Given the description of an element on the screen output the (x, y) to click on. 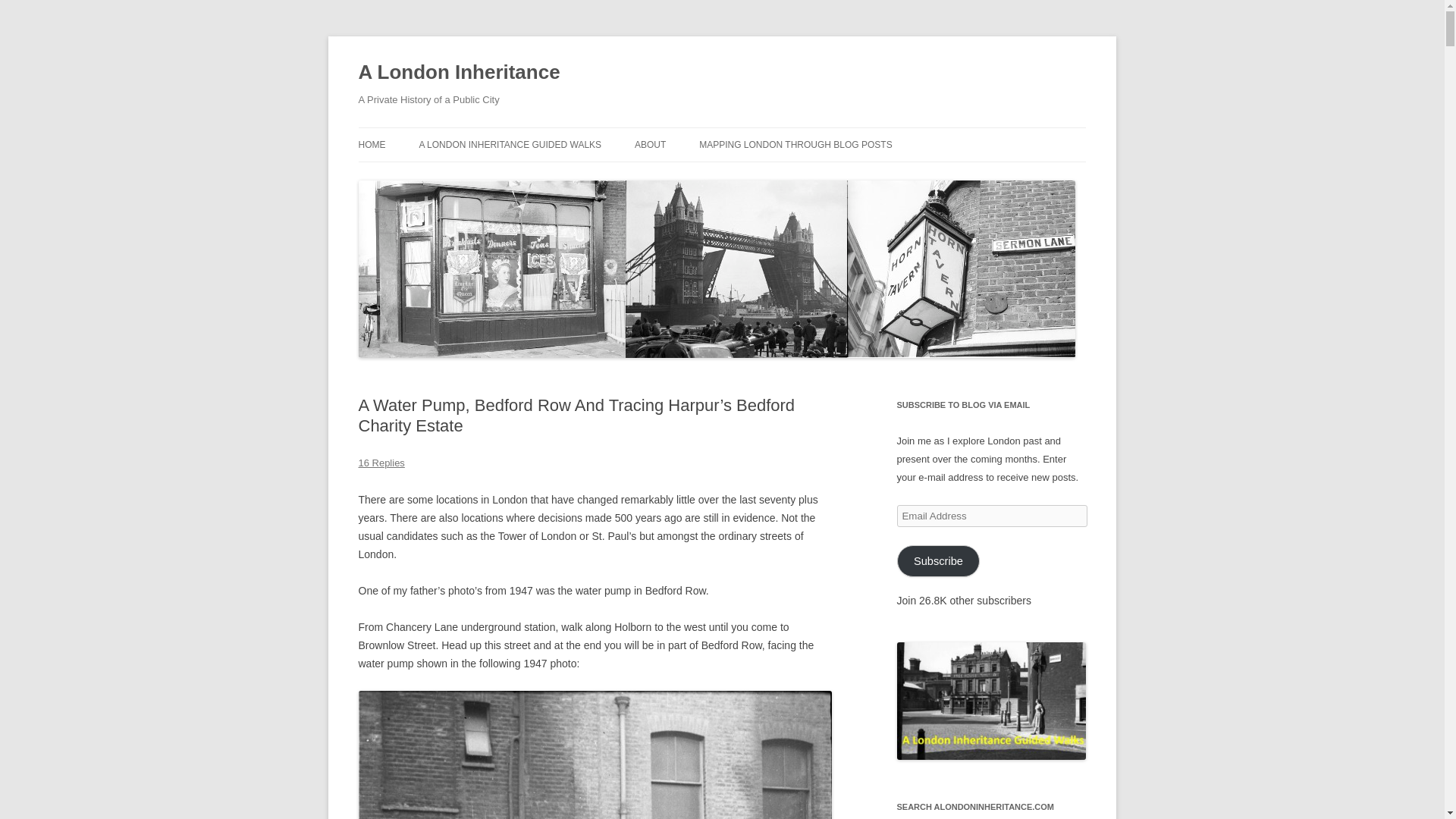
16 Replies (381, 462)
A LONDON INHERITANCE GUIDED WALKS (510, 144)
A MAP OF ALL MY BLOG POSTS (774, 176)
A London Inheritance (458, 72)
A London Inheritance (458, 72)
ABOUT (649, 144)
MAPPING LONDON THROUGH BLOG POSTS (794, 144)
